Given the description of an element on the screen output the (x, y) to click on. 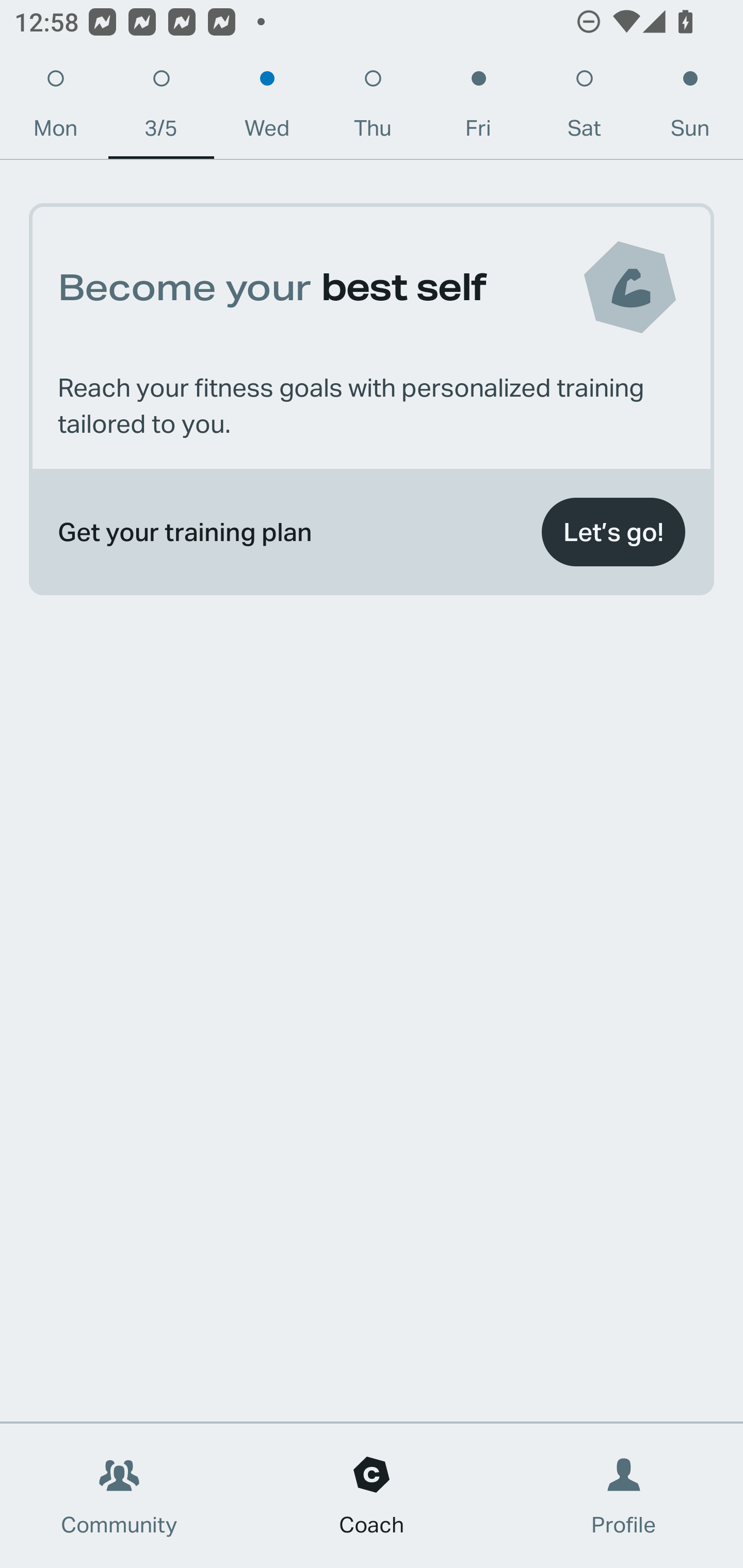
Mon (55, 108)
3/5 (160, 108)
Wed (266, 108)
Thu (372, 108)
Fri (478, 108)
Sat (584, 108)
Sun (690, 108)
Let’s go! (613, 532)
Community (119, 1495)
Profile (624, 1495)
